Given the description of an element on the screen output the (x, y) to click on. 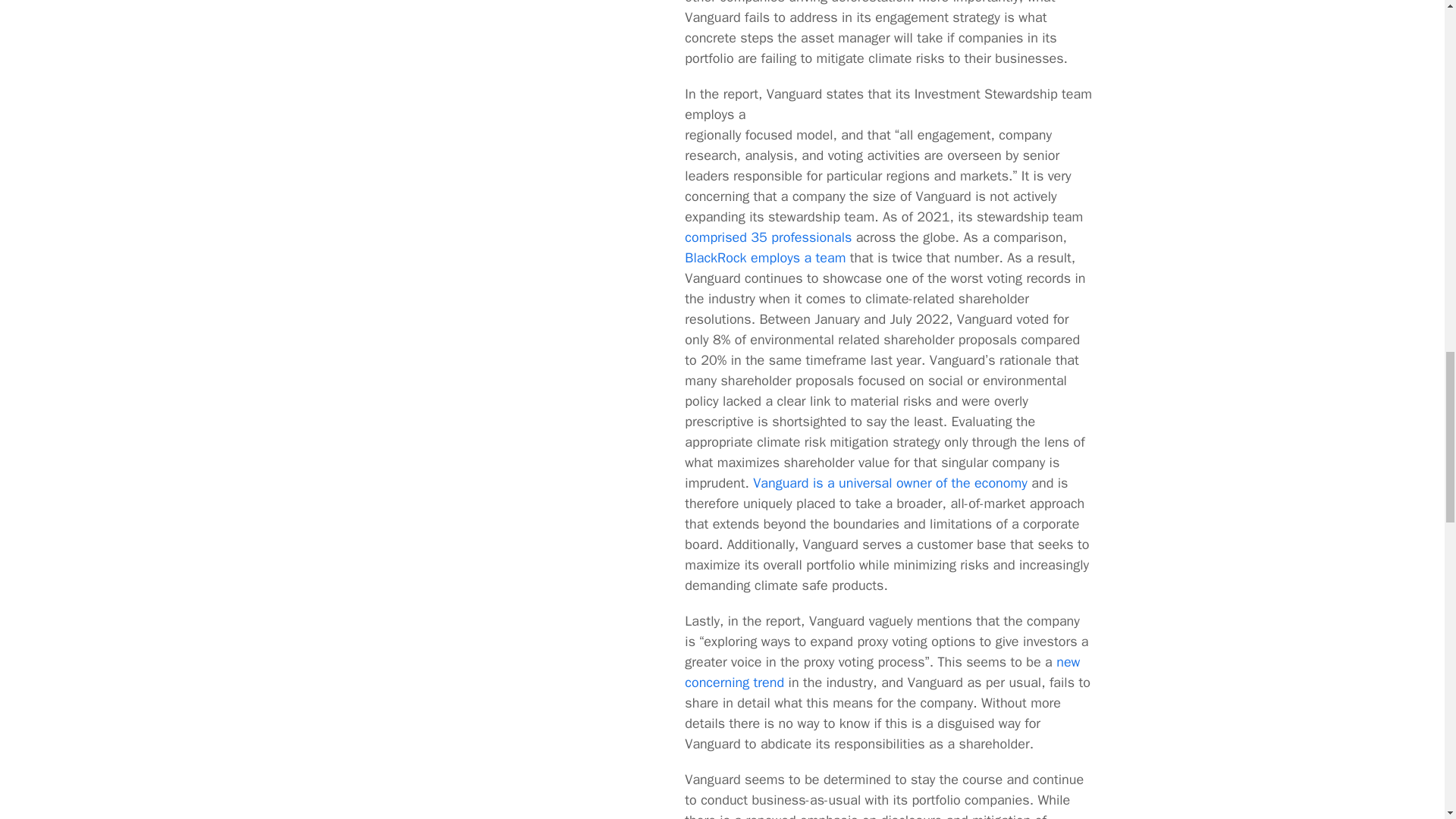
comprised 35 professionals (767, 237)
Vanguard is a universal owner of the economy (889, 483)
new concerning trend (882, 672)
BlackRock employs a team (764, 257)
